Given the description of an element on the screen output the (x, y) to click on. 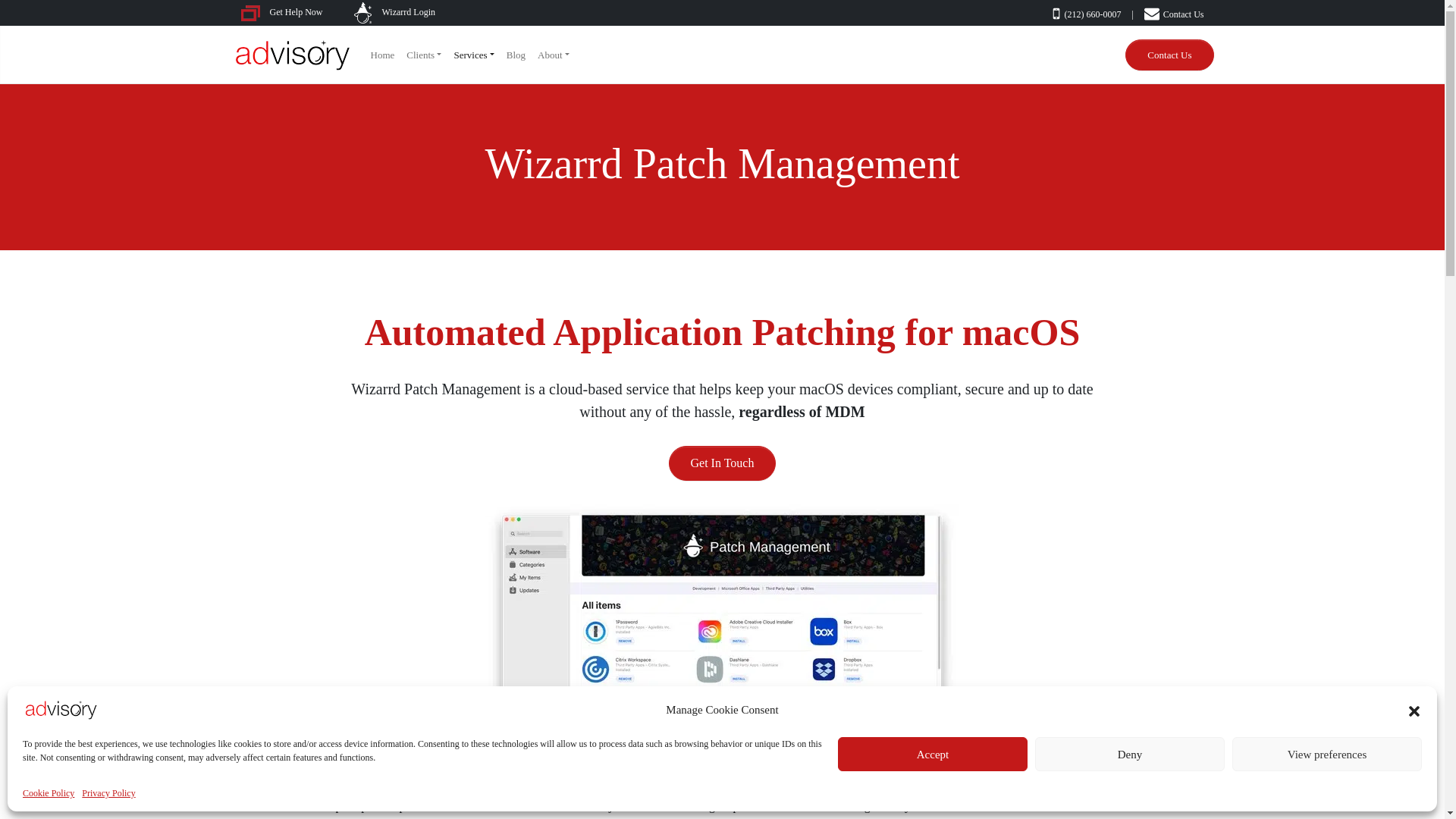
Cookie Policy (48, 793)
Clients (423, 54)
View preferences (1326, 754)
Get Help Now (291, 11)
Accept (932, 754)
Contact Us (1173, 14)
Deny (1129, 754)
Privacy Policy (108, 793)
Services (472, 54)
Wizarrd Login (394, 11)
Home (382, 54)
